Given the description of an element on the screen output the (x, y) to click on. 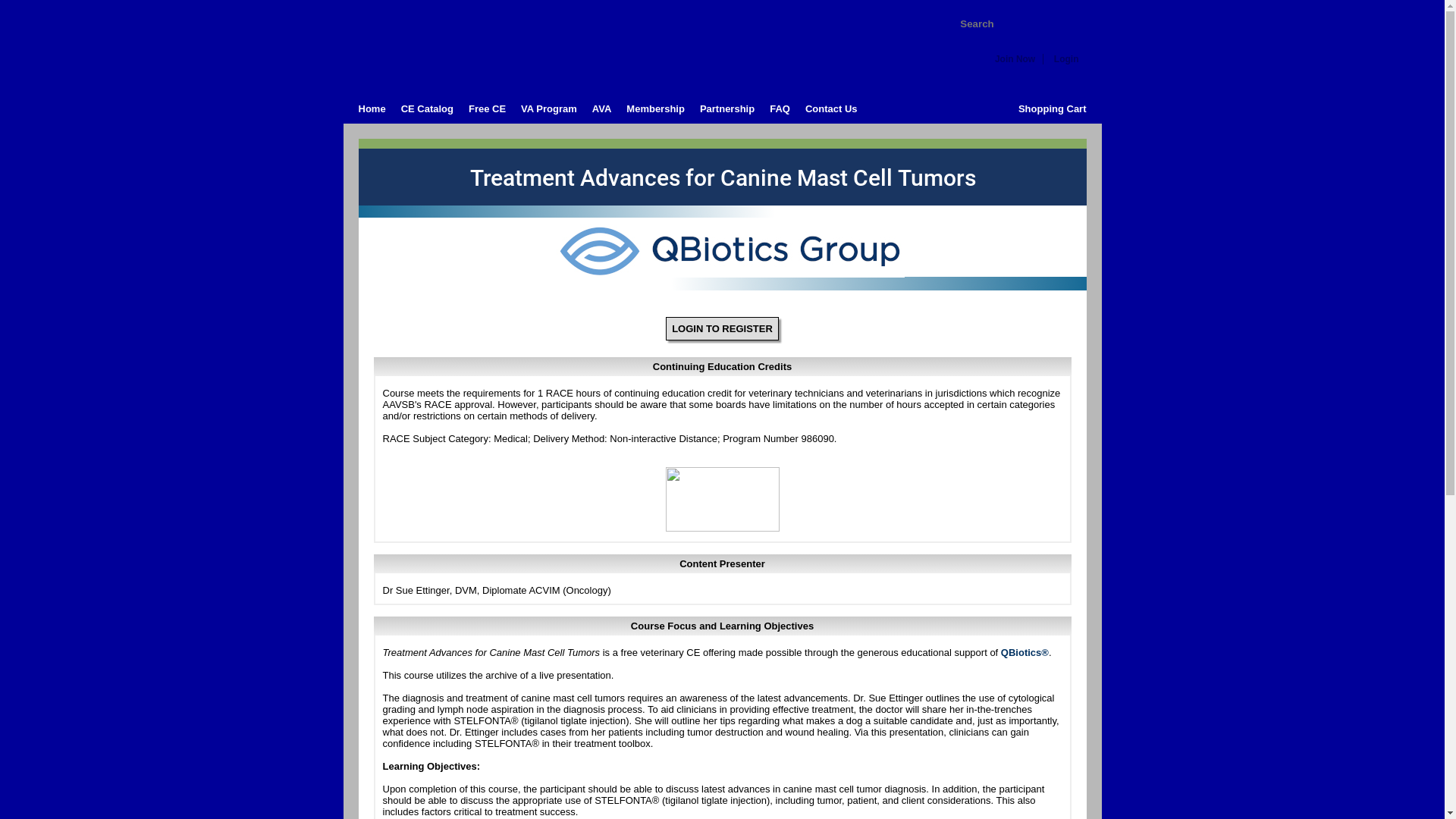
Partnership (719, 108)
AVA (593, 108)
FAQ (772, 108)
Shopping Cart (1052, 108)
Join Now (1015, 59)
Login (1066, 59)
CE Catalog (418, 108)
Contact Us (823, 108)
VA Program (540, 108)
Free CE (478, 108)
Membership (647, 108)
Home (363, 108)
LOGIN TO REGISTER (721, 328)
